Given the description of an element on the screen output the (x, y) to click on. 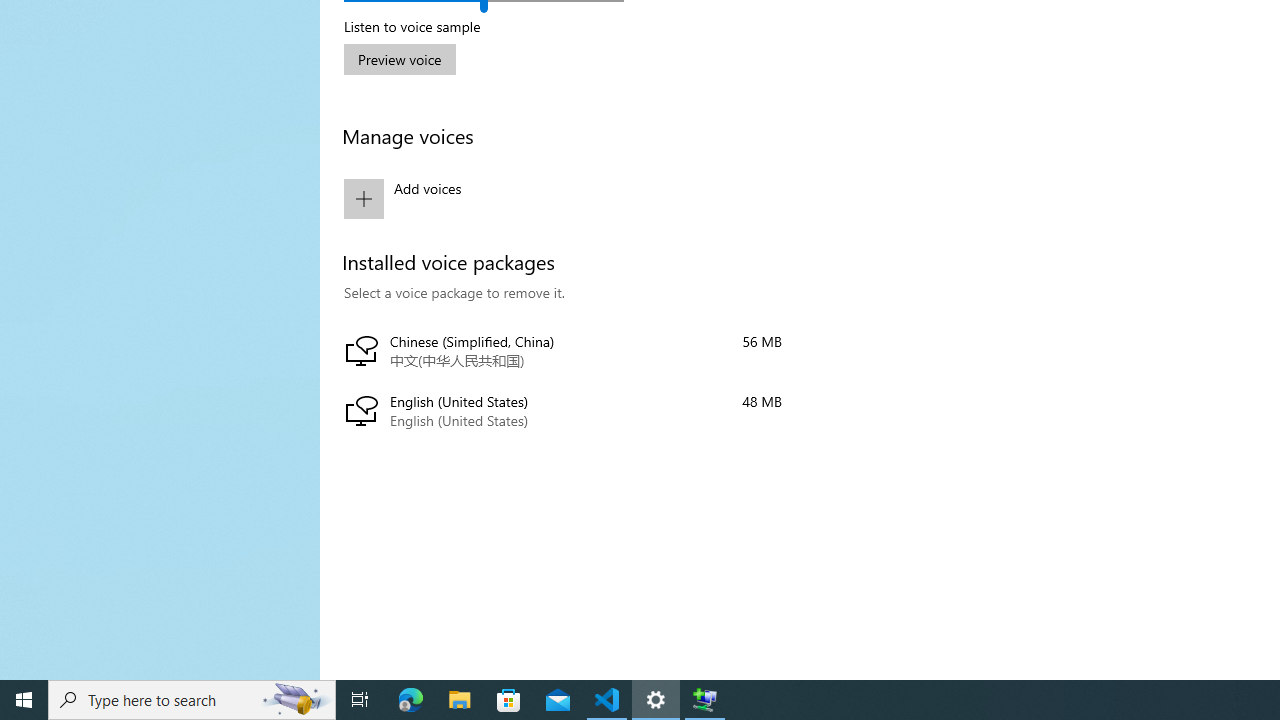
Microsoft Edge (411, 699)
Microsoft Store (509, 699)
Add voices (563, 198)
Visual Studio Code - 1 running window (607, 699)
Extensible Wizards Host Process - 1 running window (704, 699)
Settings - 1 running window (656, 699)
Preview voice (399, 58)
Search highlights icon opens search home window (295, 699)
Start (24, 699)
English (United States) English (United States) 48 MB (563, 412)
Type here to search (191, 699)
File Explorer (460, 699)
Task View (359, 699)
